Given the description of an element on the screen output the (x, y) to click on. 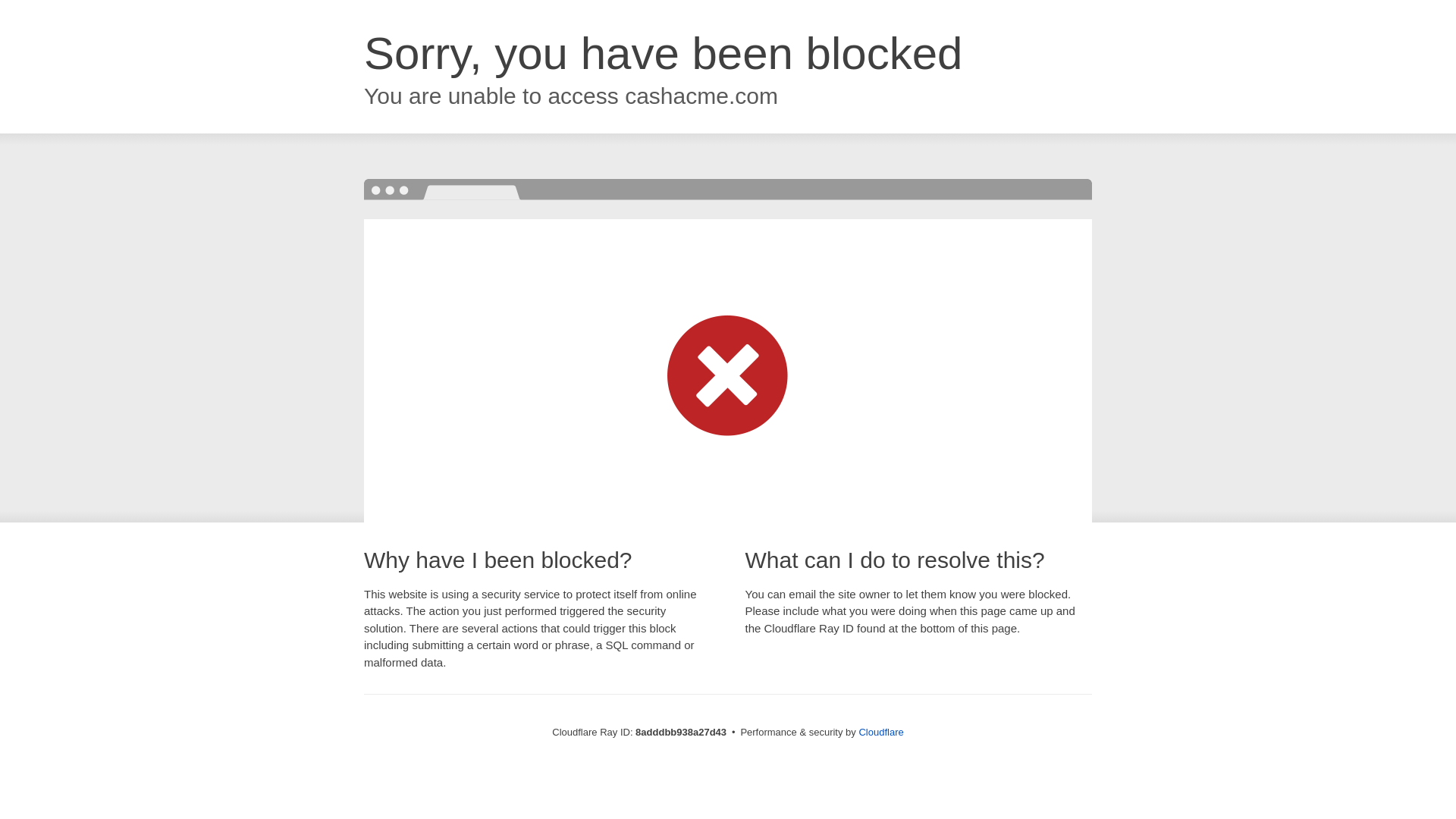
Cloudflare (880, 731)
